Given the description of an element on the screen output the (x, y) to click on. 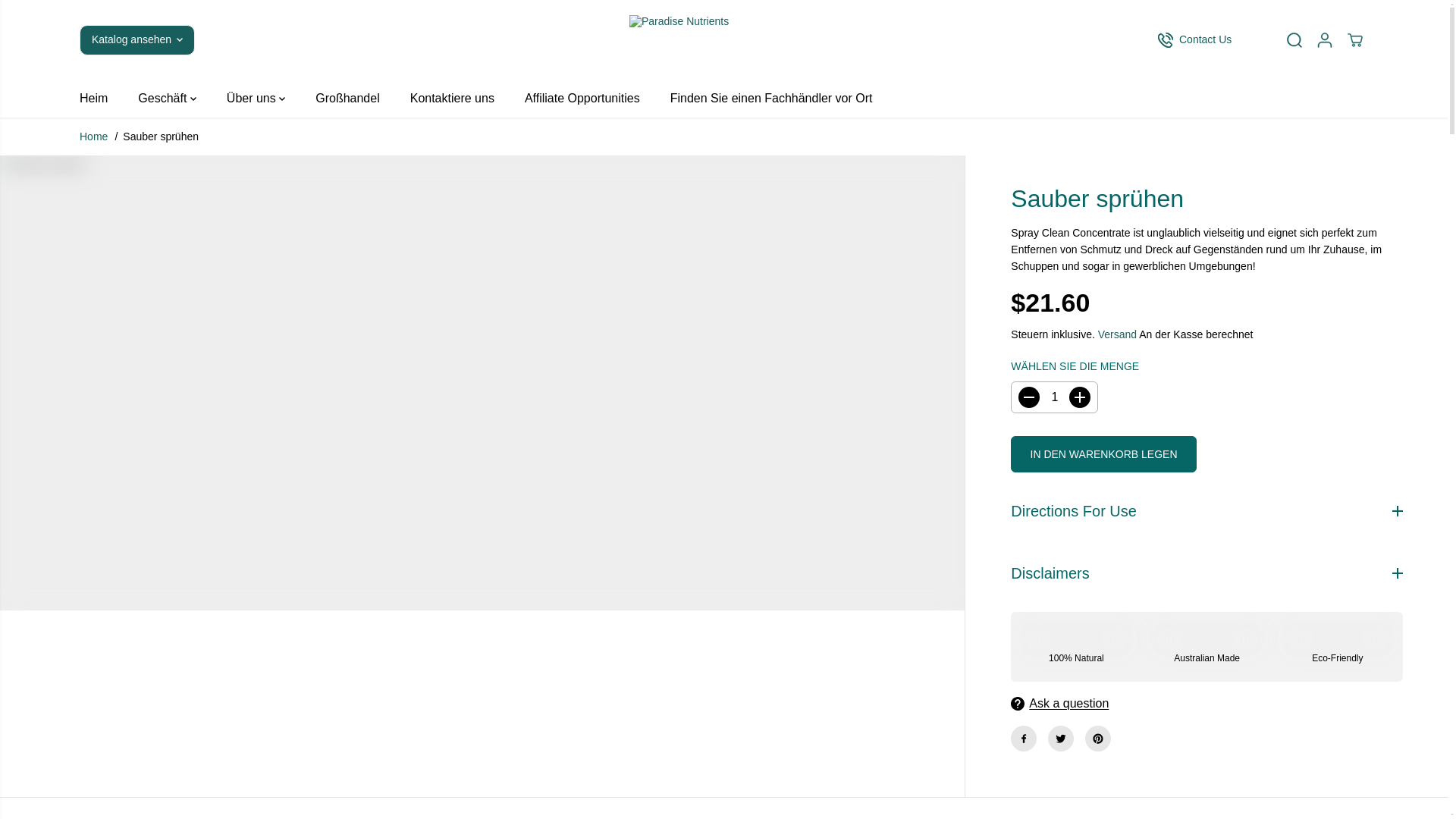
Pinterest (1097, 738)
Wagen (1354, 39)
Twitter (1061, 738)
Home (93, 135)
1 (1053, 397)
Suchen (1294, 39)
Anmeldung (1324, 39)
Facebook (1023, 738)
ZUM INHALT SPRINGEN (60, 18)
